Given the description of an element on the screen output the (x, y) to click on. 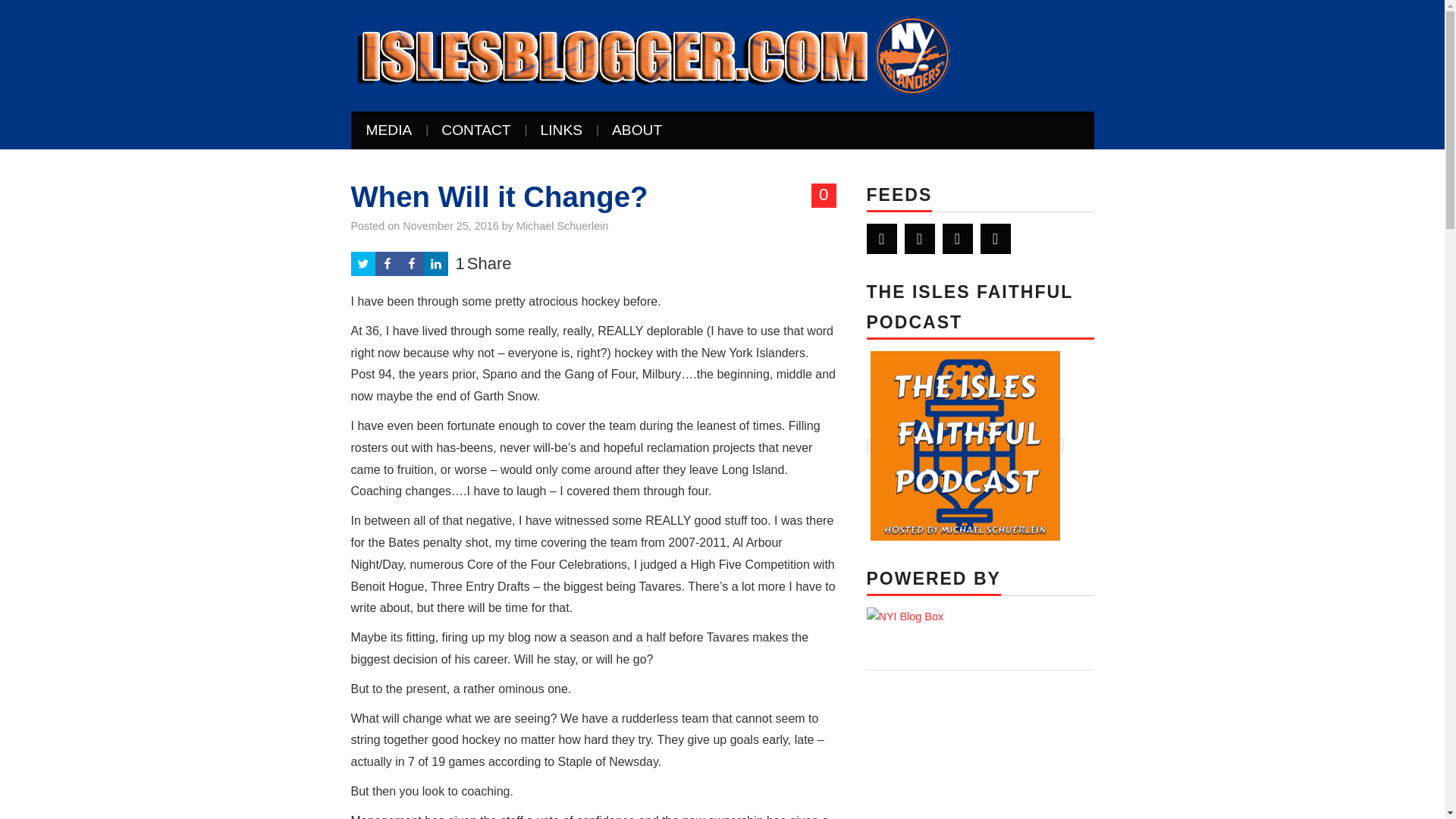
Tumblr (994, 238)
MEDIA (388, 130)
November 25, 2016 (450, 225)
View all posts by Michael Schuerlein (562, 225)
ABOUT (636, 130)
CONTACT (475, 130)
LINKS (560, 130)
Twitter (881, 238)
Facebook (919, 238)
NYI Blog Box (904, 617)
